Given the description of an element on the screen output the (x, y) to click on. 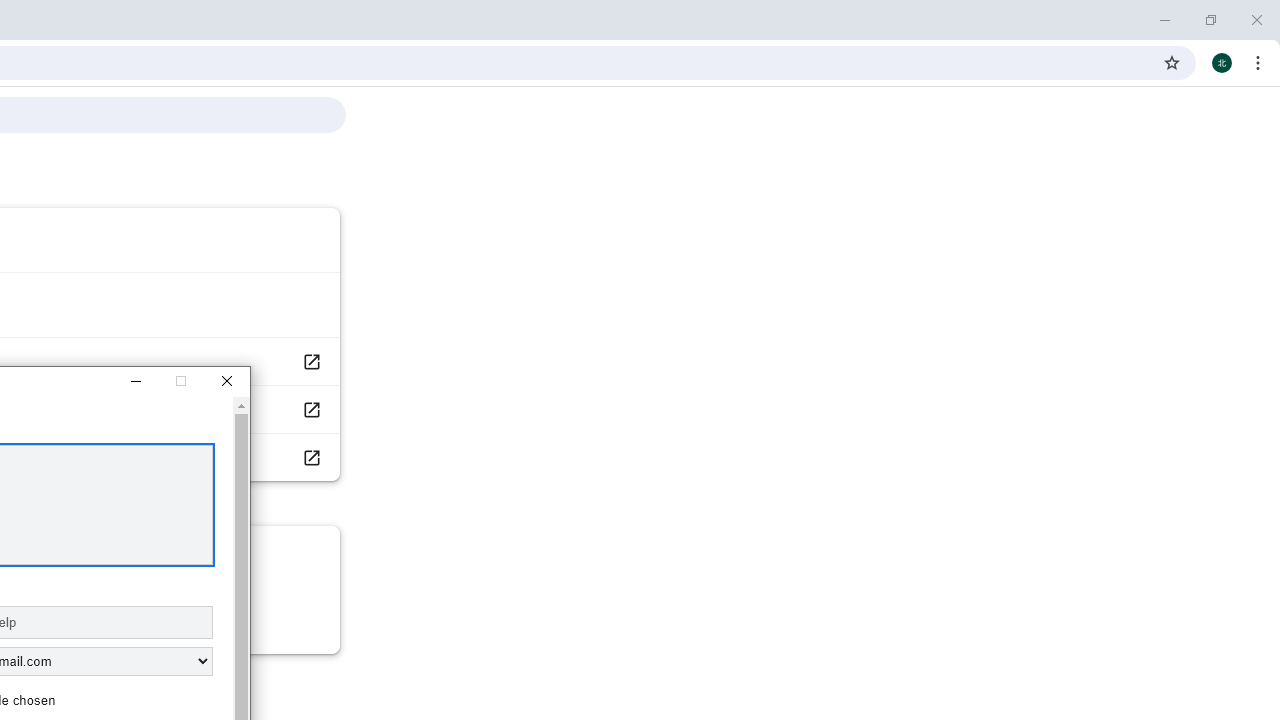
Maximize (180, 381)
Report an issue (310, 409)
Privacy policy (310, 456)
Get help with Chrome (310, 361)
